Given the description of an element on the screen output the (x, y) to click on. 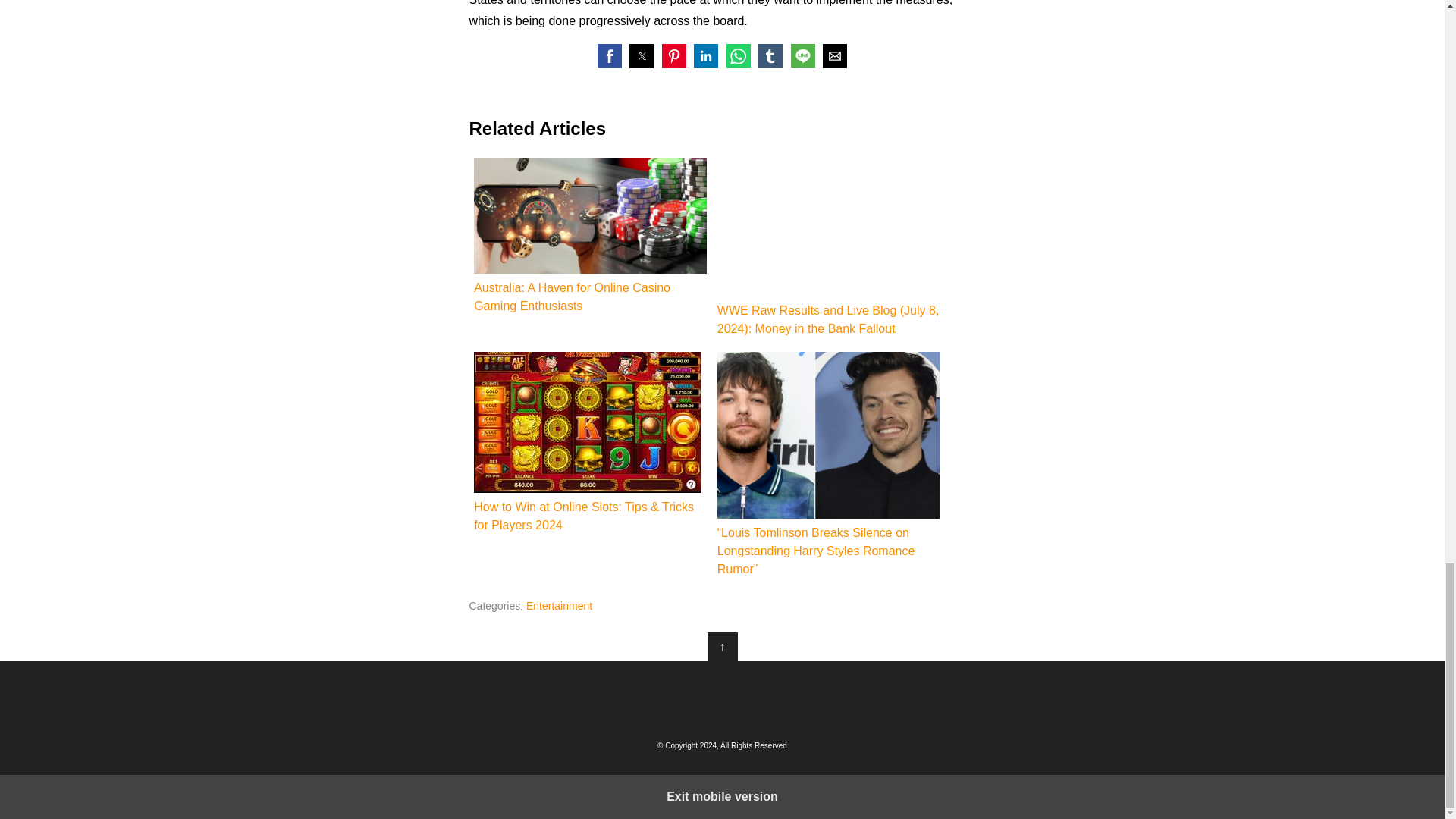
Australia: A Haven for Online Casino Gaming Enthusiasts (590, 237)
Entertainment (558, 605)
Sydneynewstoday.com (721, 698)
